Given the description of an element on the screen output the (x, y) to click on. 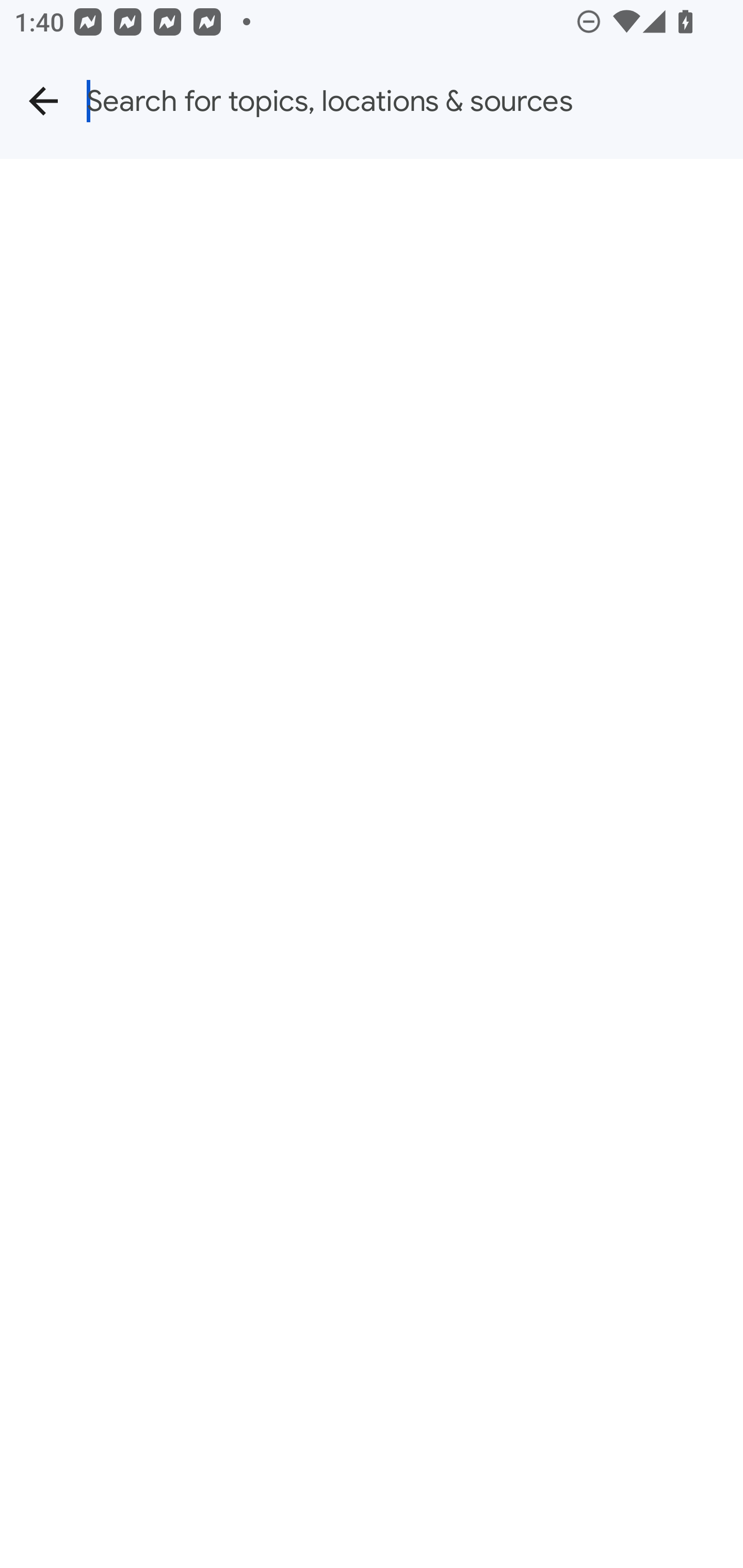
Back (43, 101)
Search for topics, locations & sources (414, 101)
